Given the description of an element on the screen output the (x, y) to click on. 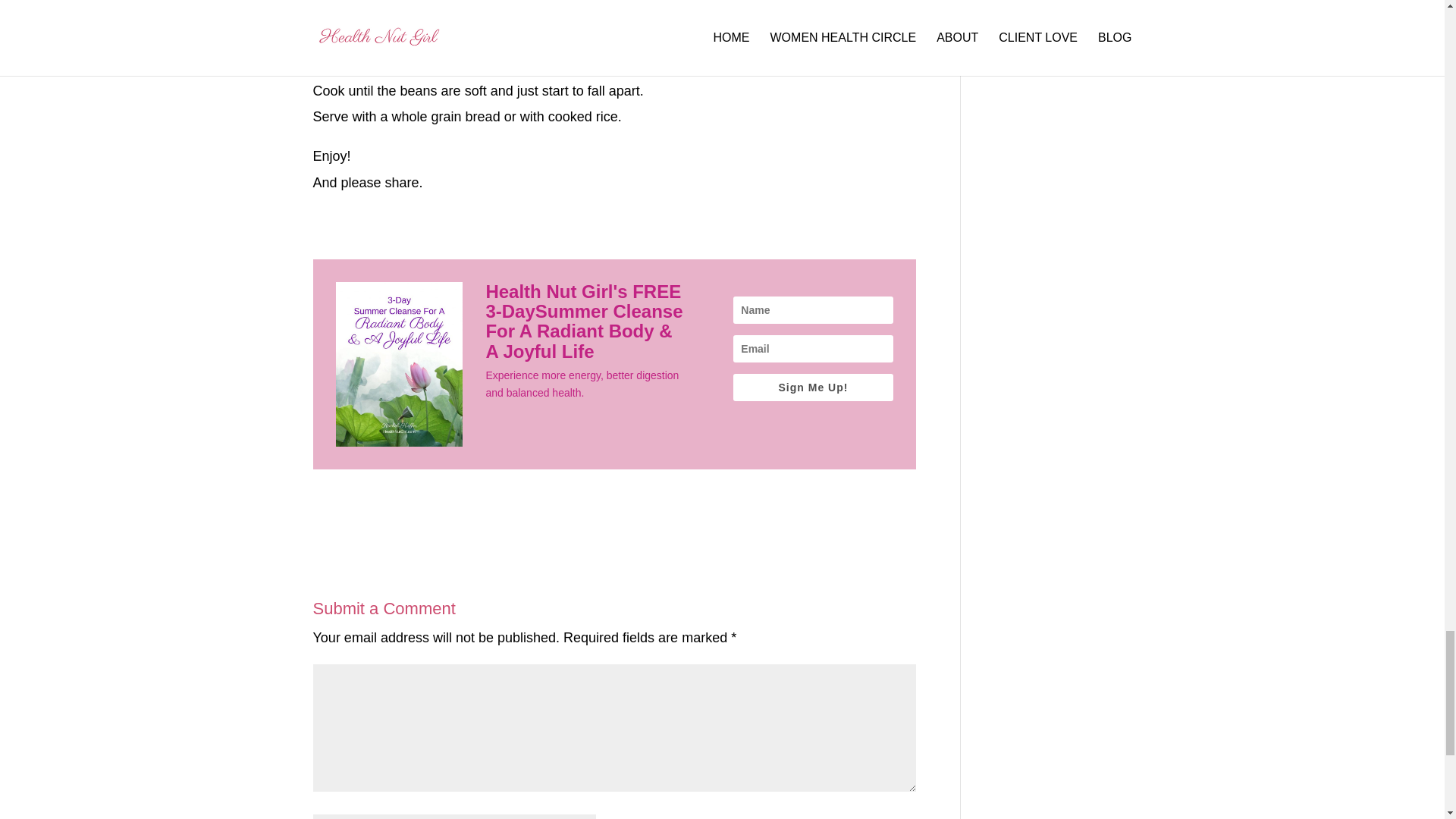
Sign Me Up! (812, 387)
